Given the description of an element on the screen output the (x, y) to click on. 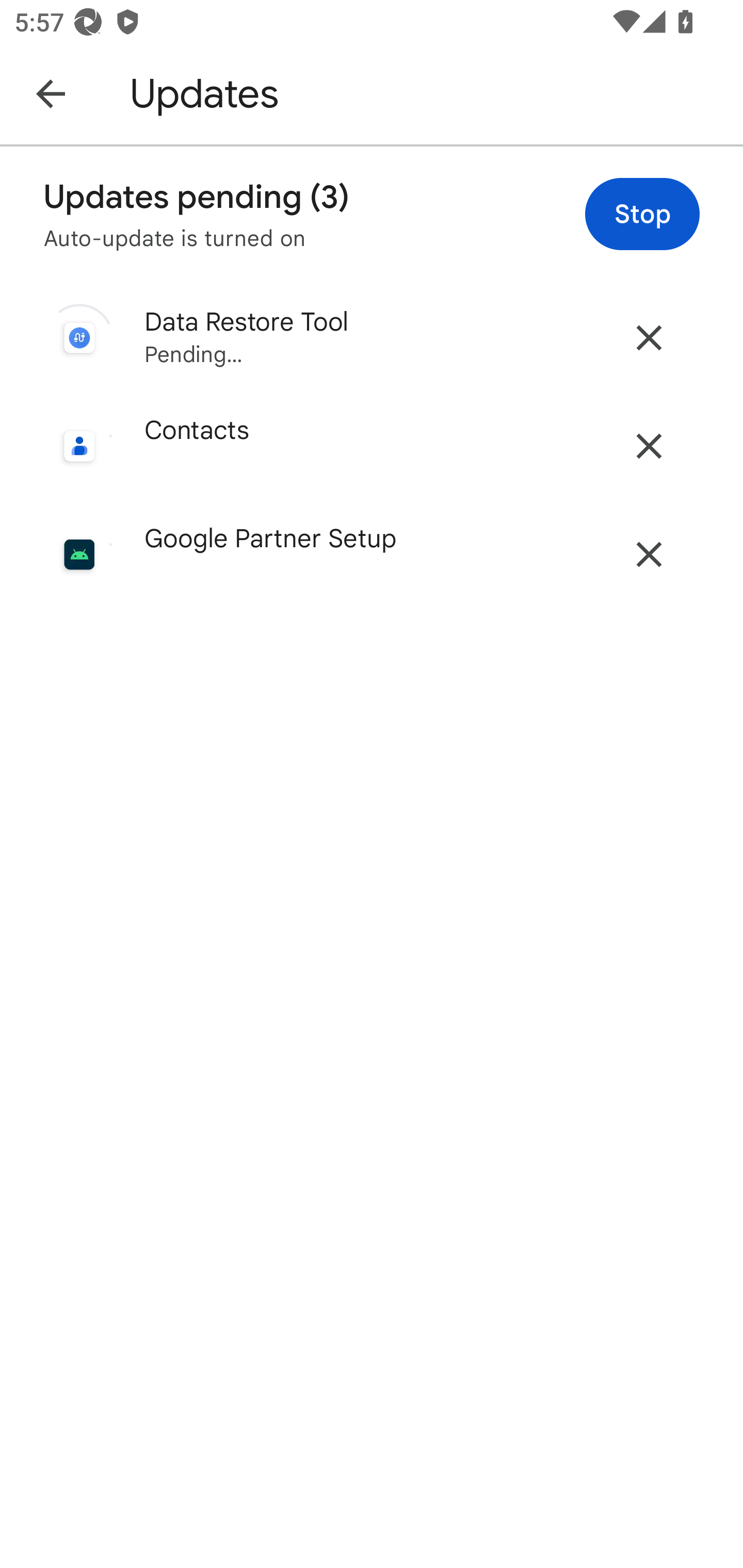
Navigate up (50, 92)
Stop (642, 213)
Cancel (648, 337)
Contacts App: Contacts     Cancel (371, 446)
Cancel (648, 445)
Cancel (648, 554)
